Given the description of an element on the screen output the (x, y) to click on. 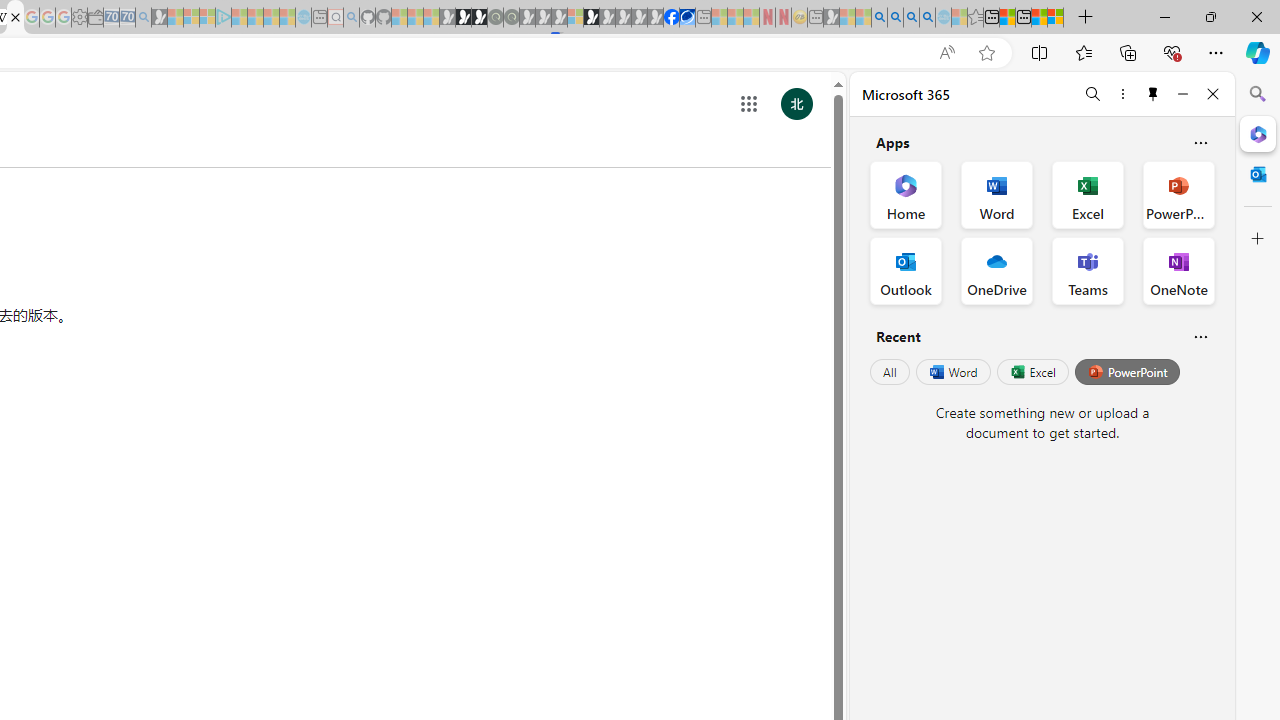
Future Focus Report 2024 - Sleeping (511, 17)
Outlook Office App (906, 270)
Excel (1031, 372)
Word (952, 372)
Play Zoo Boom in your browser | Games from Microsoft Start (463, 17)
Cheap Car Rentals - Save70.com - Sleeping (127, 17)
